Given the description of an element on the screen output the (x, y) to click on. 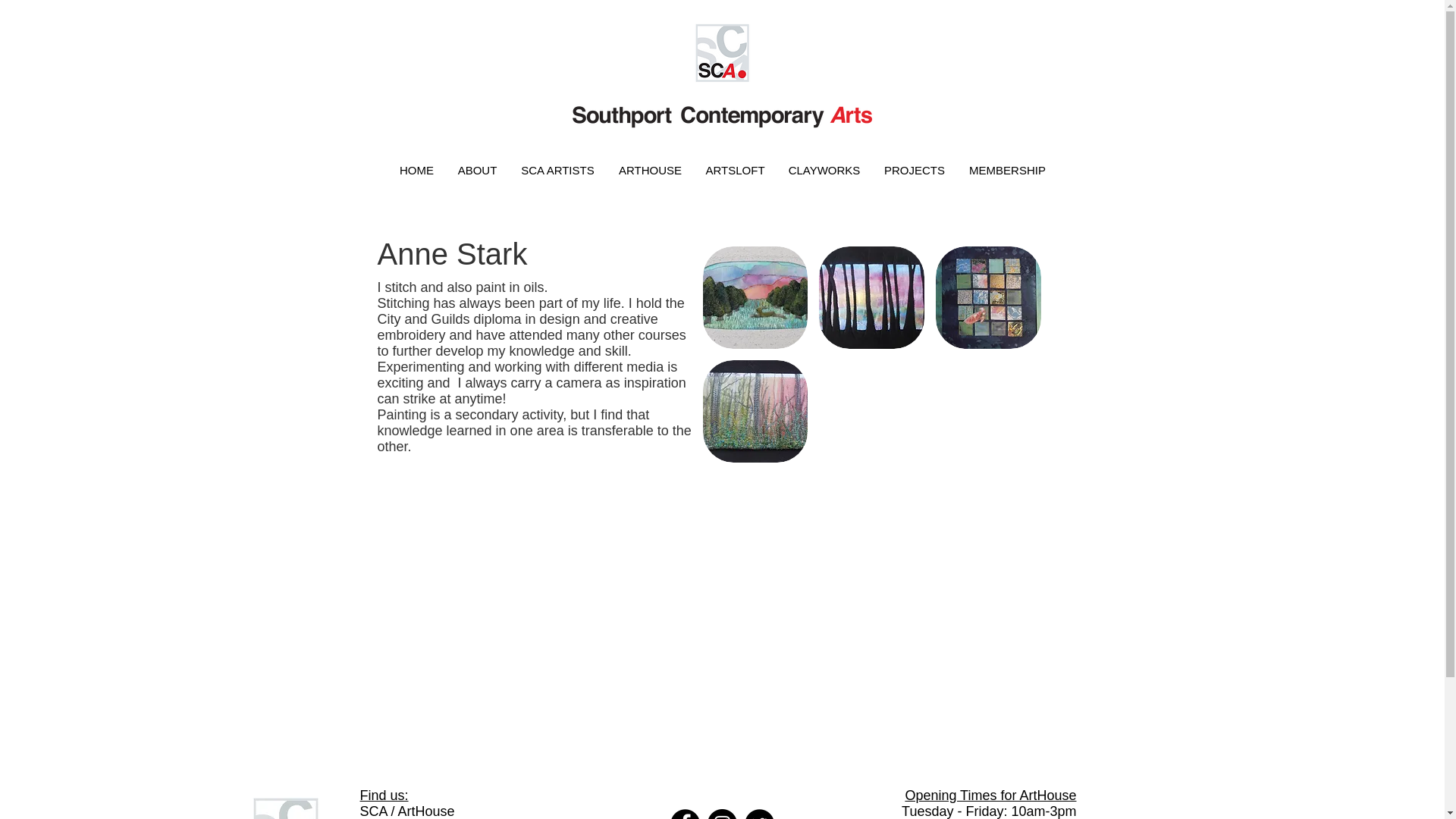
MEMBERSHIP (1007, 169)
HOME (416, 169)
CLAYWORKS (824, 169)
ARTHOUSE (650, 169)
SCA ARTISTS (556, 169)
ARTSLOFT (734, 169)
ABOUT (476, 169)
PROJECTS (914, 169)
